Given the description of an element on the screen output the (x, y) to click on. 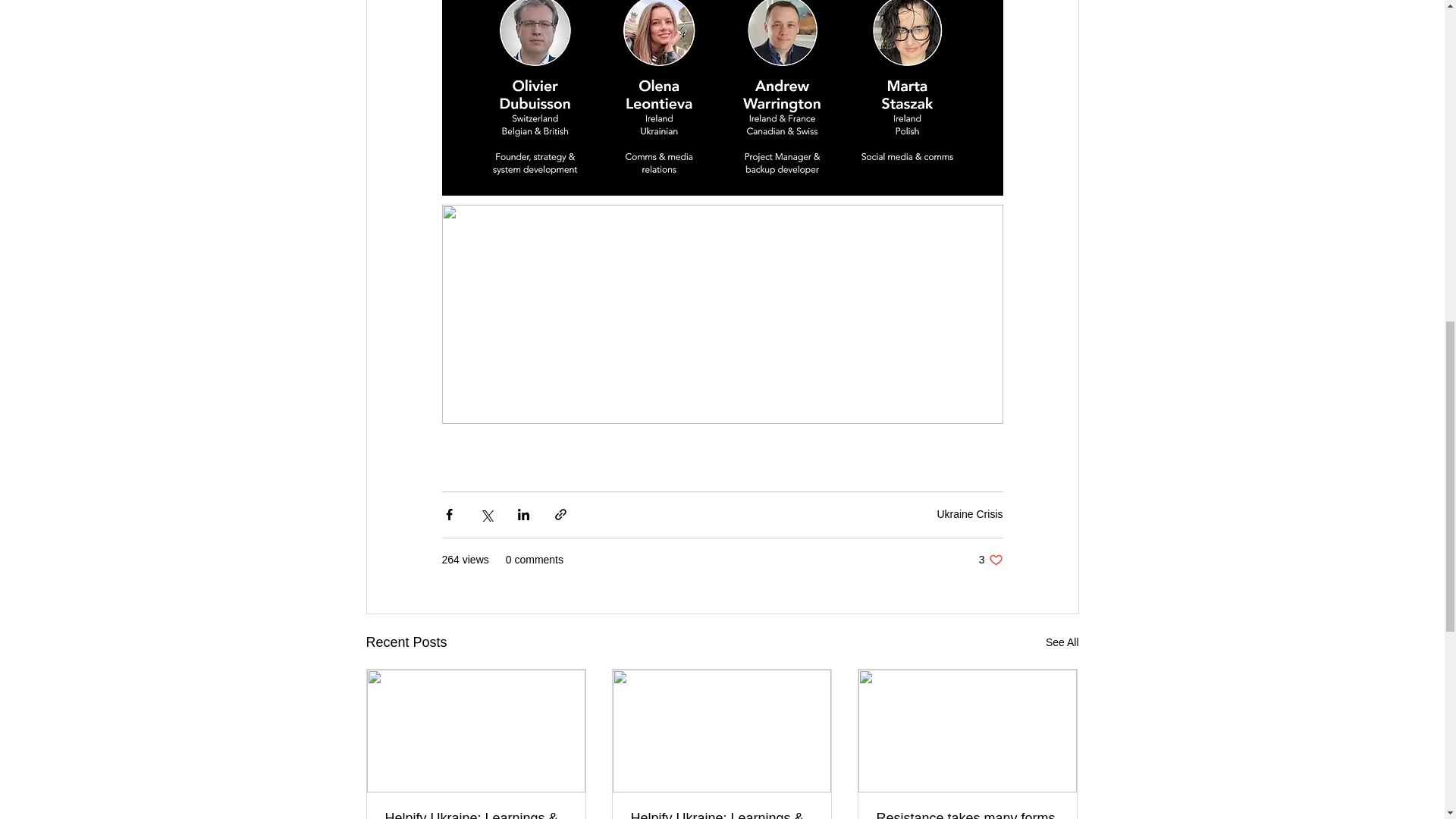
See All (1061, 642)
Resistance takes many forms (967, 814)
Ukraine Crisis (990, 559)
